Given the description of an element on the screen output the (x, y) to click on. 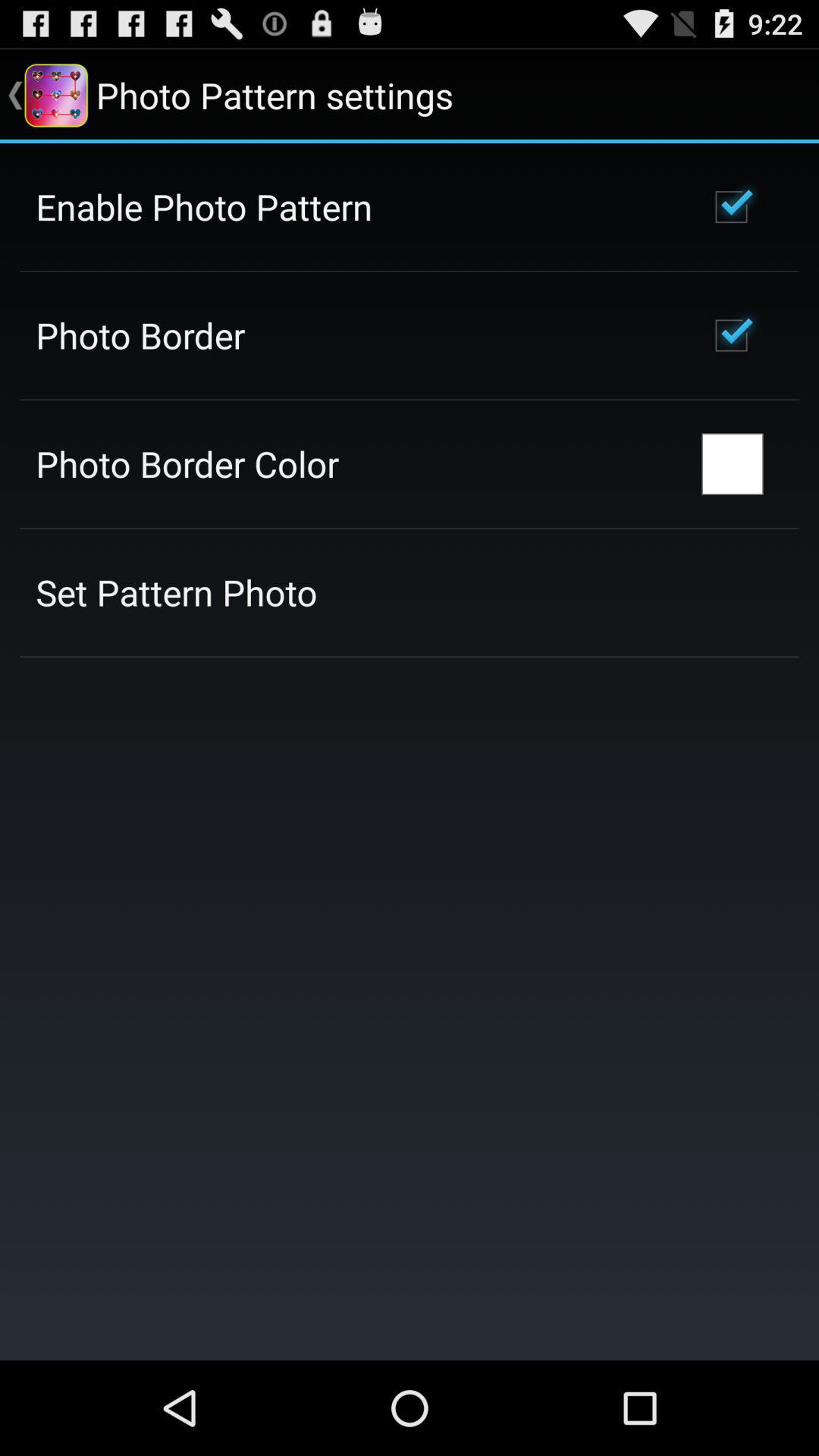
turn off the icon to the right of photo border color (732, 463)
